Given the description of an element on the screen output the (x, y) to click on. 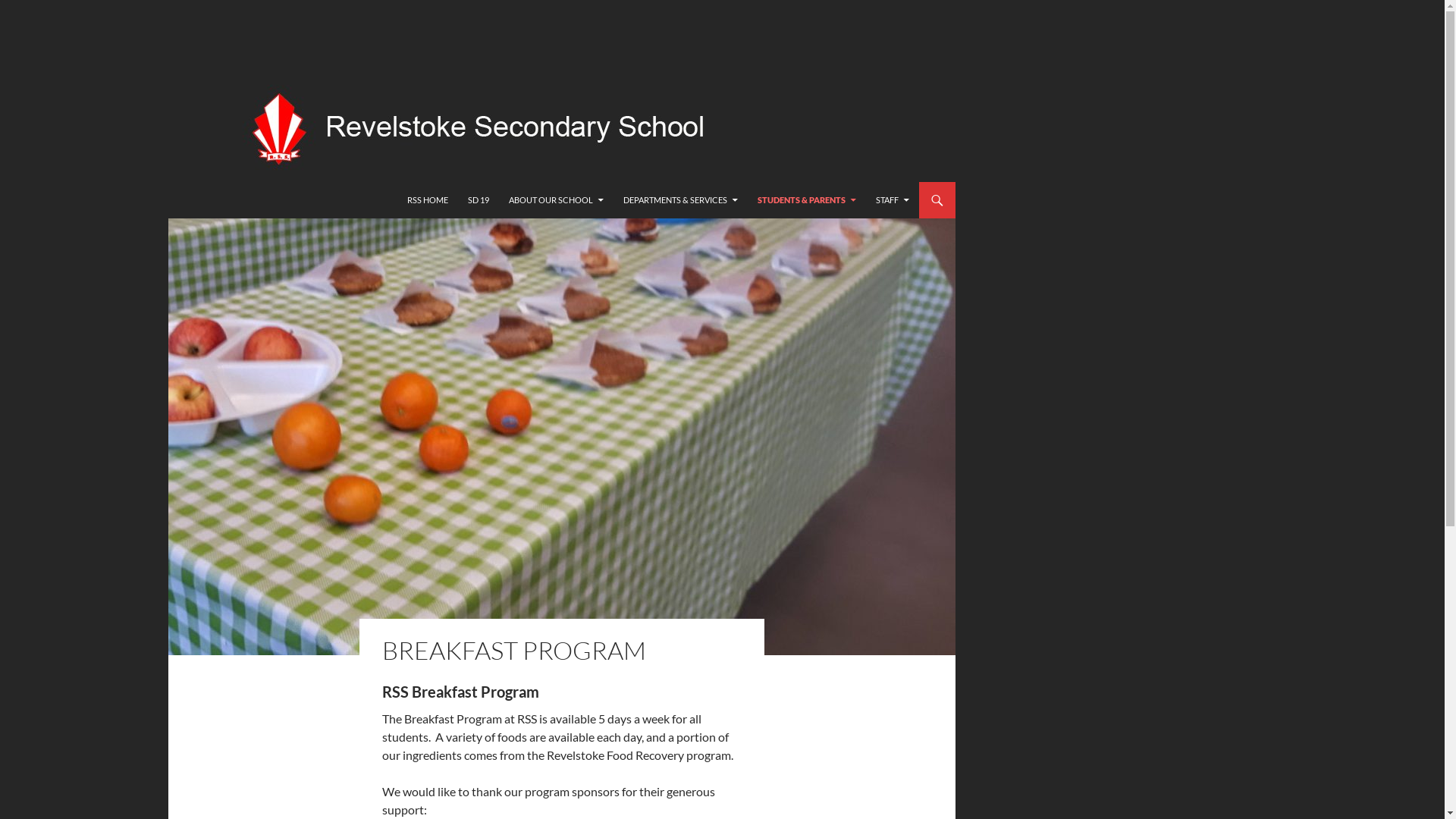
Search Element type: text (3, 181)
STUDENTS & PARENTS Element type: text (806, 200)
STAFF Element type: text (892, 200)
ABOUT OUR SCHOOL Element type: text (555, 200)
RSS HOME Element type: text (427, 200)
SKIP TO CONTENT Element type: text (406, 181)
DEPARTMENTS & SERVICES Element type: text (680, 200)
SD 19 Element type: text (478, 200)
Revelstoke Secondary School Element type: text (111, 200)
